Given the description of an element on the screen output the (x, y) to click on. 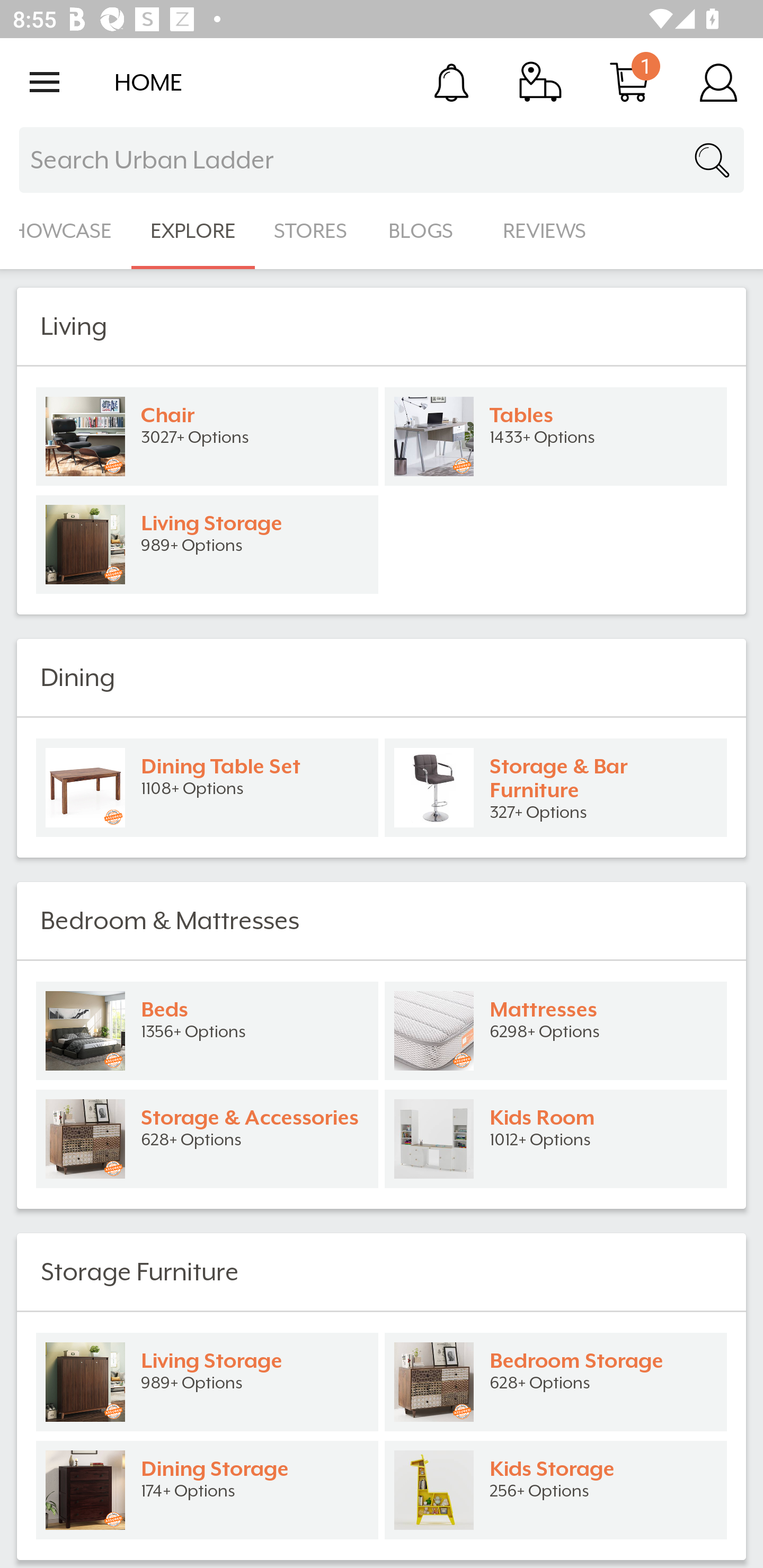
Open navigation drawer (44, 82)
Notification (450, 81)
Track Order (540, 81)
Cart (629, 81)
Account Details (718, 81)
Search Urban Ladder  (381, 159)
SHOWCASE (65, 230)
EXPLORE (192, 230)
STORES (311, 230)
BLOGS (426, 230)
REVIEWS (544, 230)
Chair 3027+ Options (206, 436)
Tables 1433+ Options (555, 436)
Living Storage 989+ Options (206, 544)
Dining Table Set 1108+ Options (206, 787)
Storage & Bar Furniture 327+ Options (555, 787)
Beds 1356+ Options (206, 1030)
Mattresses 6298+ Options (555, 1030)
Storage & Accessories 628+ Options (206, 1139)
Kids Room 1012+ Options (555, 1139)
Living Storage 989+ Options (206, 1382)
Bedroom Storage 628+ Options (555, 1382)
Dining Storage 174+ Options (206, 1490)
Kids Storage 256+ Options (555, 1490)
